Given the description of an element on the screen output the (x, y) to click on. 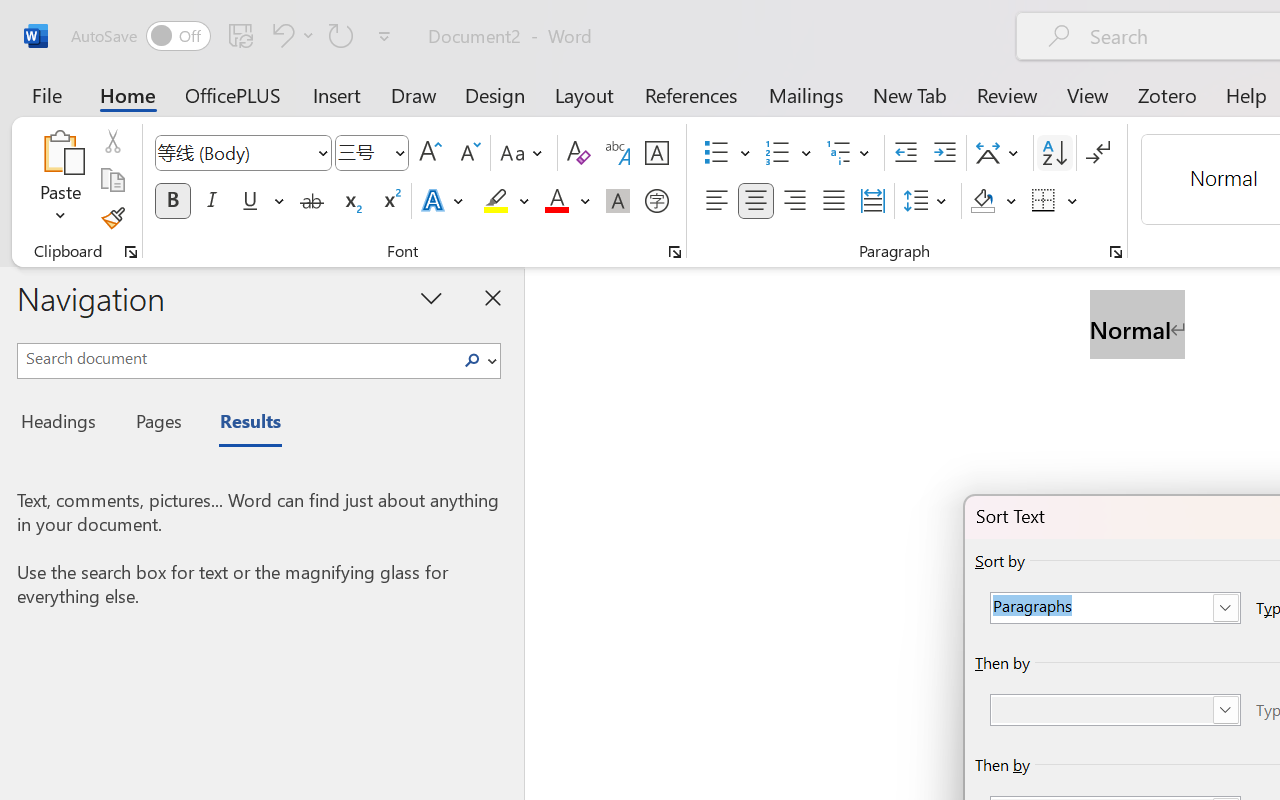
Bullets (727, 153)
Change Case (524, 153)
Format Painter (112, 218)
Sort... (1054, 153)
Search document (236, 358)
Distributed (872, 201)
Headings (64, 424)
Show/Hide Editing Marks (1098, 153)
Customize Quick Access Toolbar (384, 35)
Search (478, 360)
Quick Access Toolbar (233, 36)
Paragraph... (1115, 252)
Review (1007, 94)
